Given the description of an element on the screen output the (x, y) to click on. 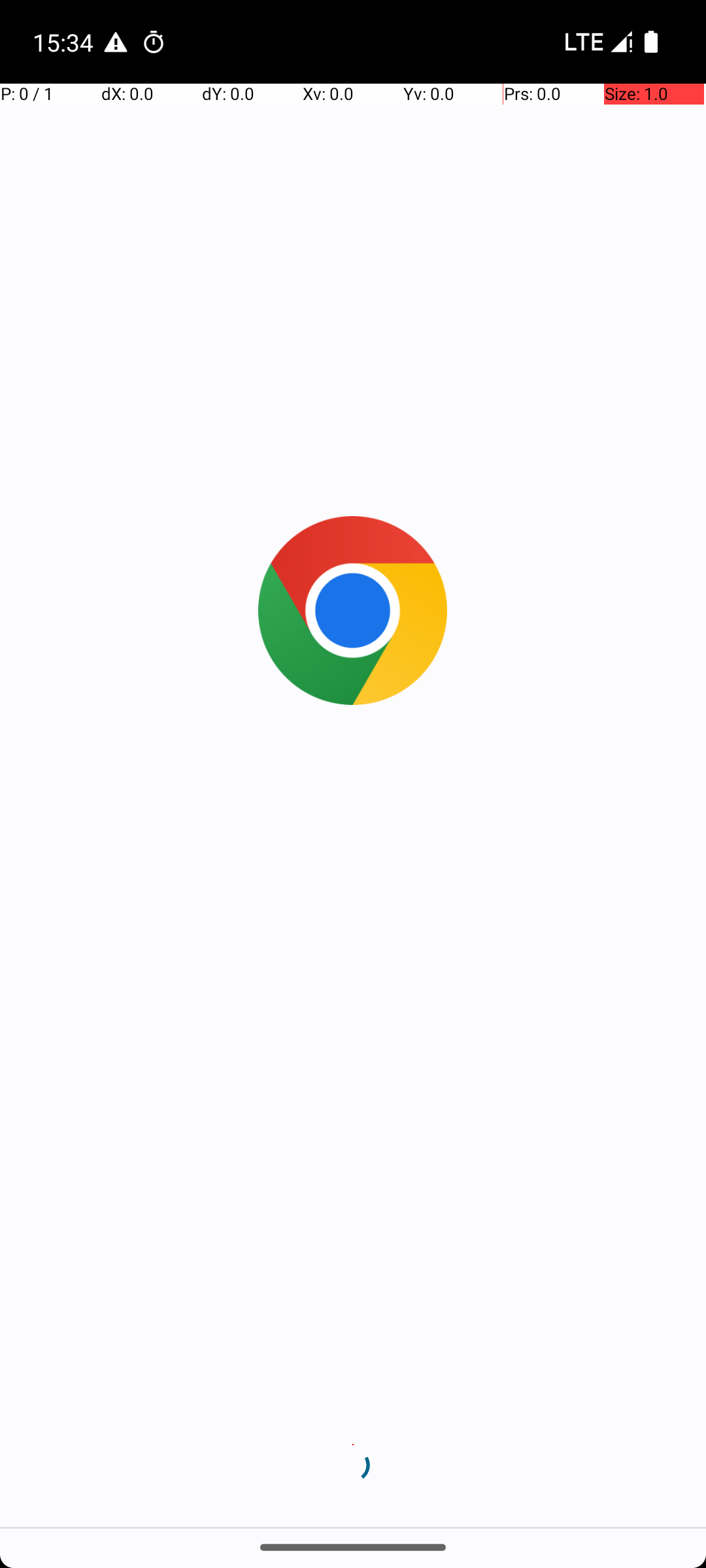
Accept & continue Element type: android.widget.Button (352, 1444)
Welcome to Chrome Element type: android.widget.TextView (352, 792)
By continuing, you agree to the Terms of Service.
To help improve the app, Chrome sends usage and crash data to Google. Manage Element type: android.widget.TextView (352, 928)
